Given the description of an element on the screen output the (x, y) to click on. 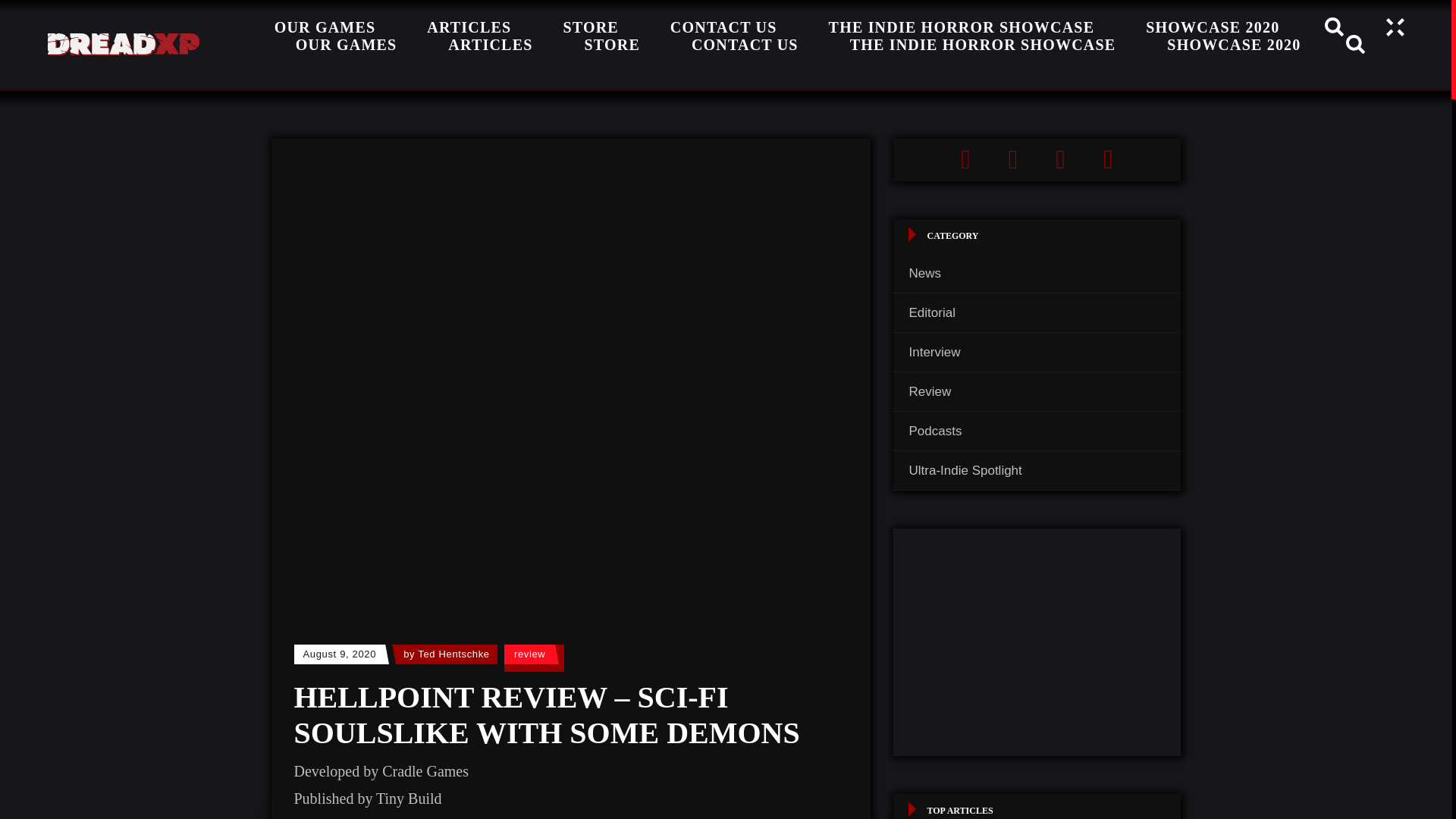
ARTICLES (489, 44)
Shift-click to edit this widget. (1036, 159)
THE INDIE HORROR SHOWCASE (982, 44)
STORE (611, 44)
CONTACT US (744, 44)
SHOWCASE 2020 (1233, 44)
OUR GAMES (346, 44)
OUR GAMES (324, 29)
